Given the description of an element on the screen output the (x, y) to click on. 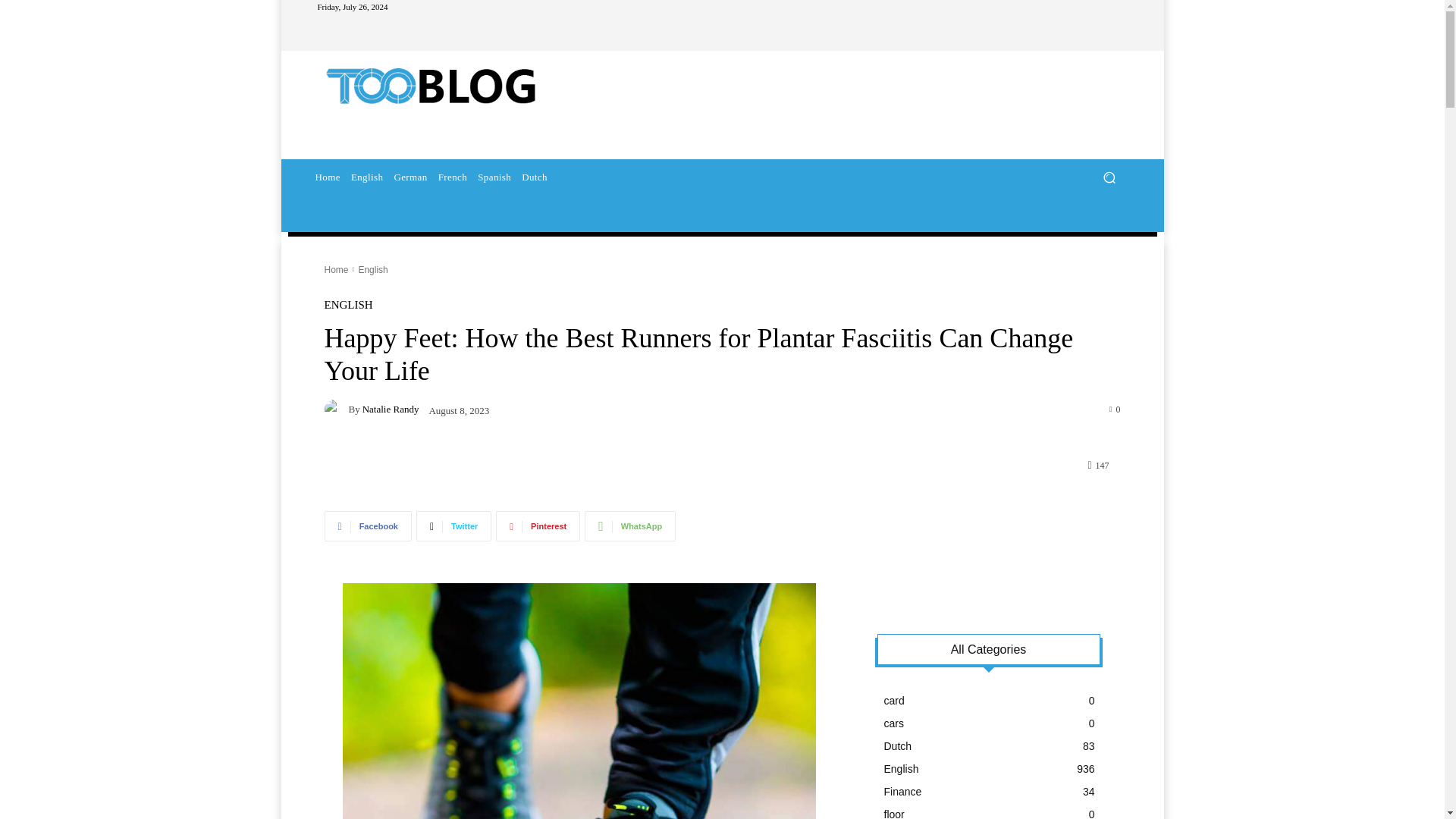
ENGLISH (348, 305)
Natalie Randy (390, 409)
Facebook (368, 526)
Twitter (454, 526)
0 (1115, 408)
Home (336, 269)
Facebook (368, 526)
Dutch (534, 176)
Natalie Randy (336, 409)
Spanish (493, 176)
WhatsApp (630, 526)
WhatsApp (630, 526)
English (372, 269)
View all posts in English (372, 269)
Home (326, 176)
